Given the description of an element on the screen output the (x, y) to click on. 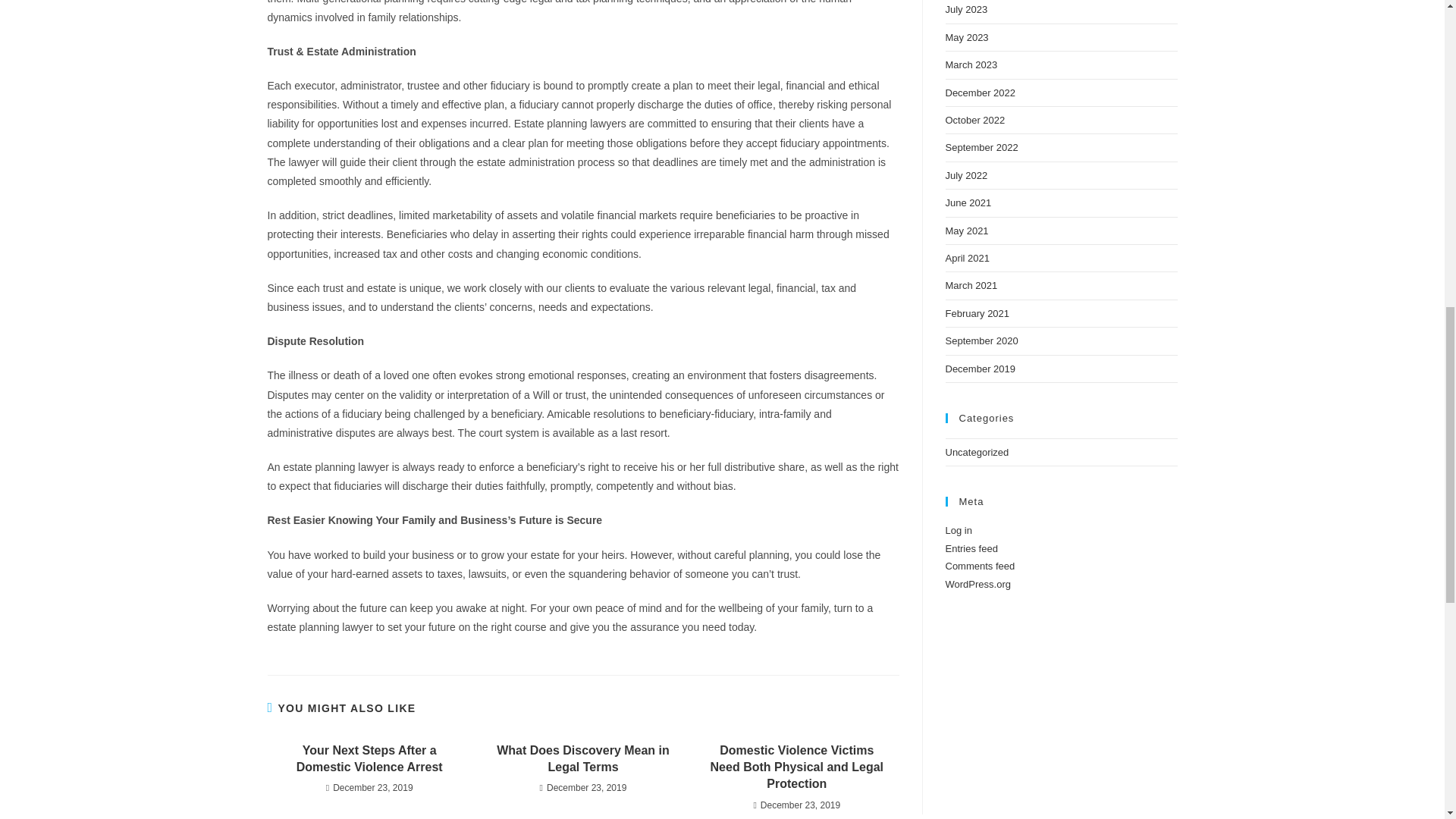
Your Next Steps After a Domestic Violence Arrest (368, 759)
What Does Discovery Mean in Legal Terms (582, 759)
